Given the description of an element on the screen output the (x, y) to click on. 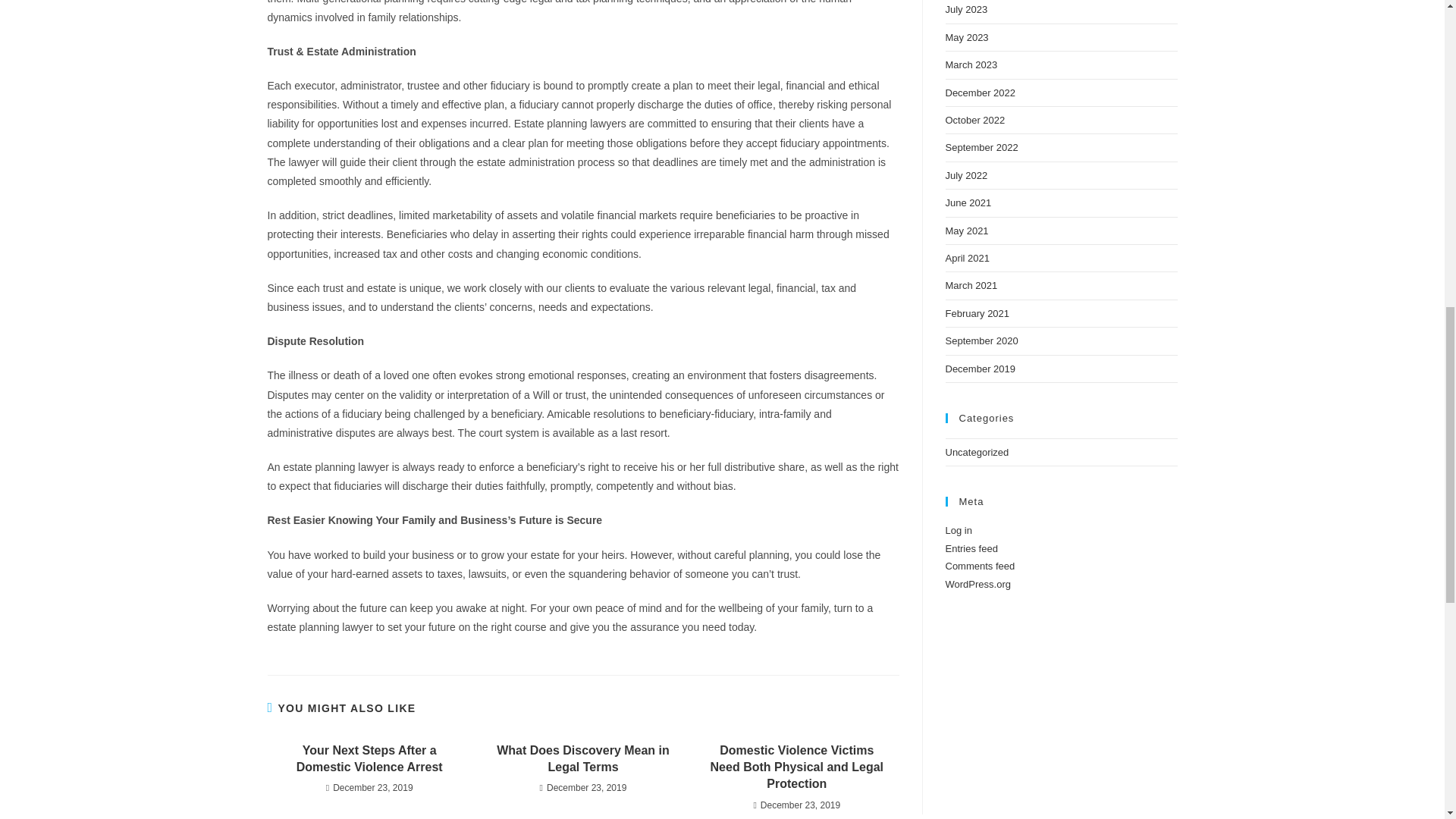
Your Next Steps After a Domestic Violence Arrest (368, 759)
What Does Discovery Mean in Legal Terms (582, 759)
